Given the description of an element on the screen output the (x, y) to click on. 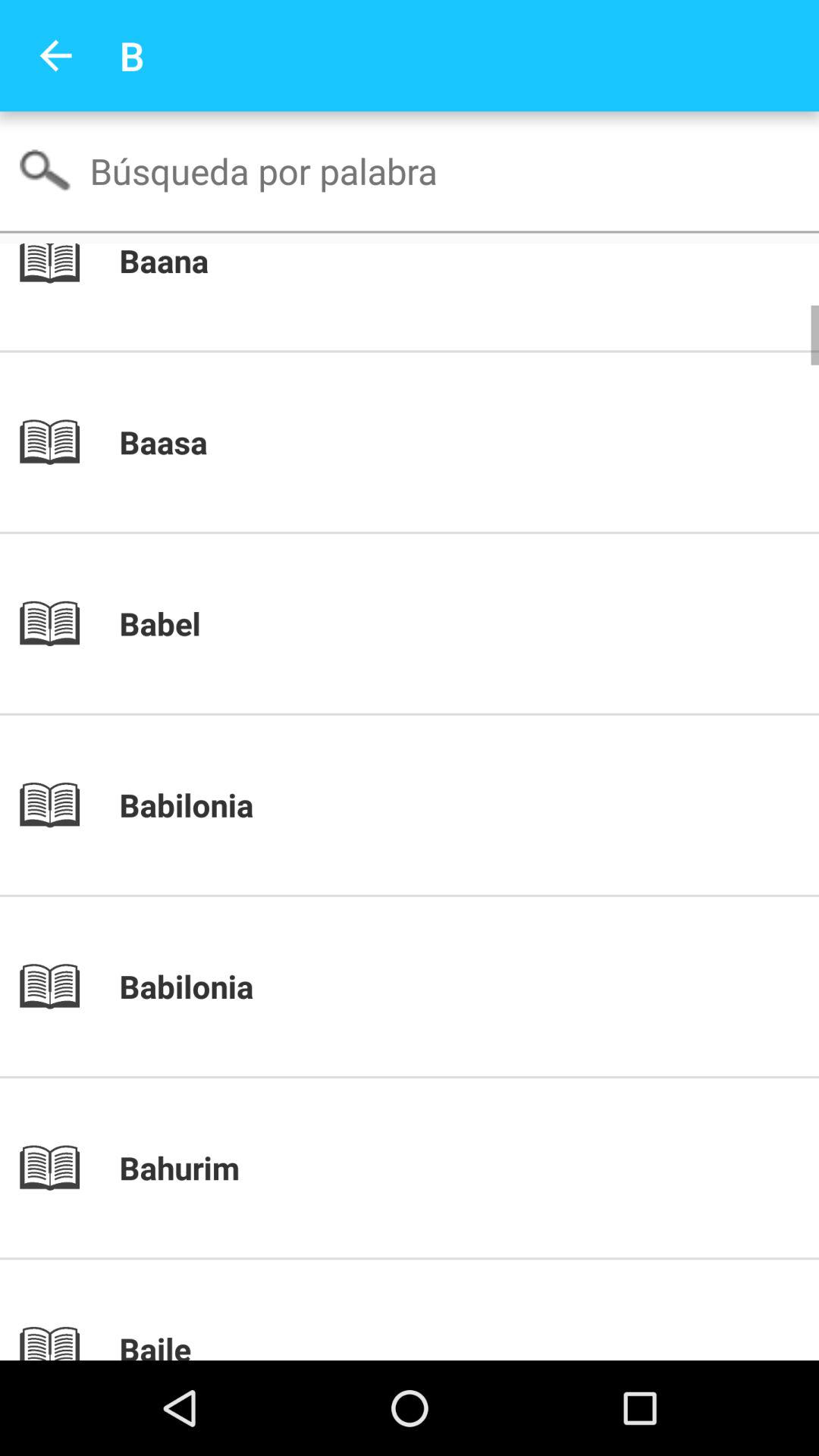
launch babel icon (435, 623)
